Given the description of an element on the screen output the (x, y) to click on. 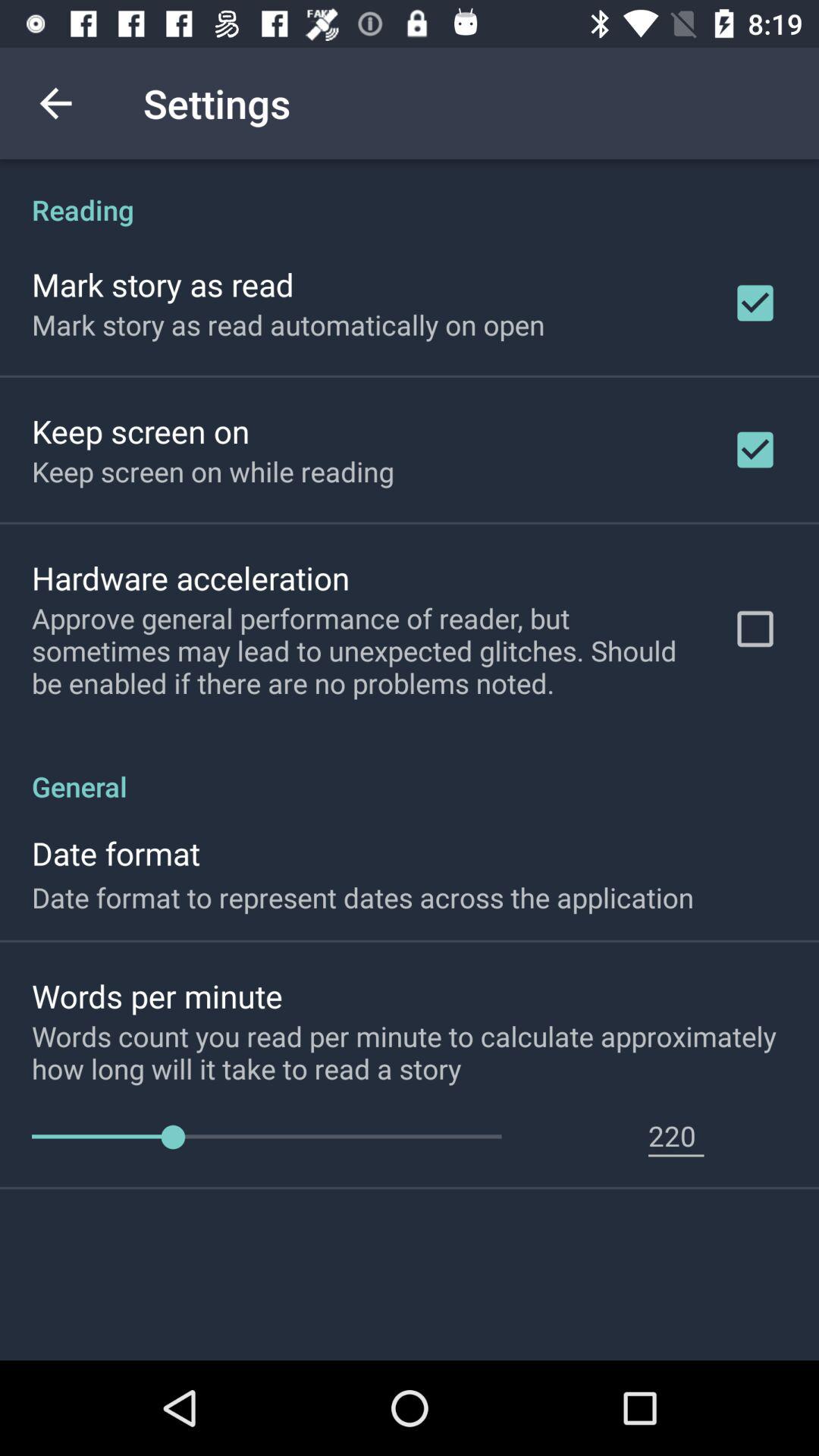
press the words count you icon (425, 1052)
